Given the description of an element on the screen output the (x, y) to click on. 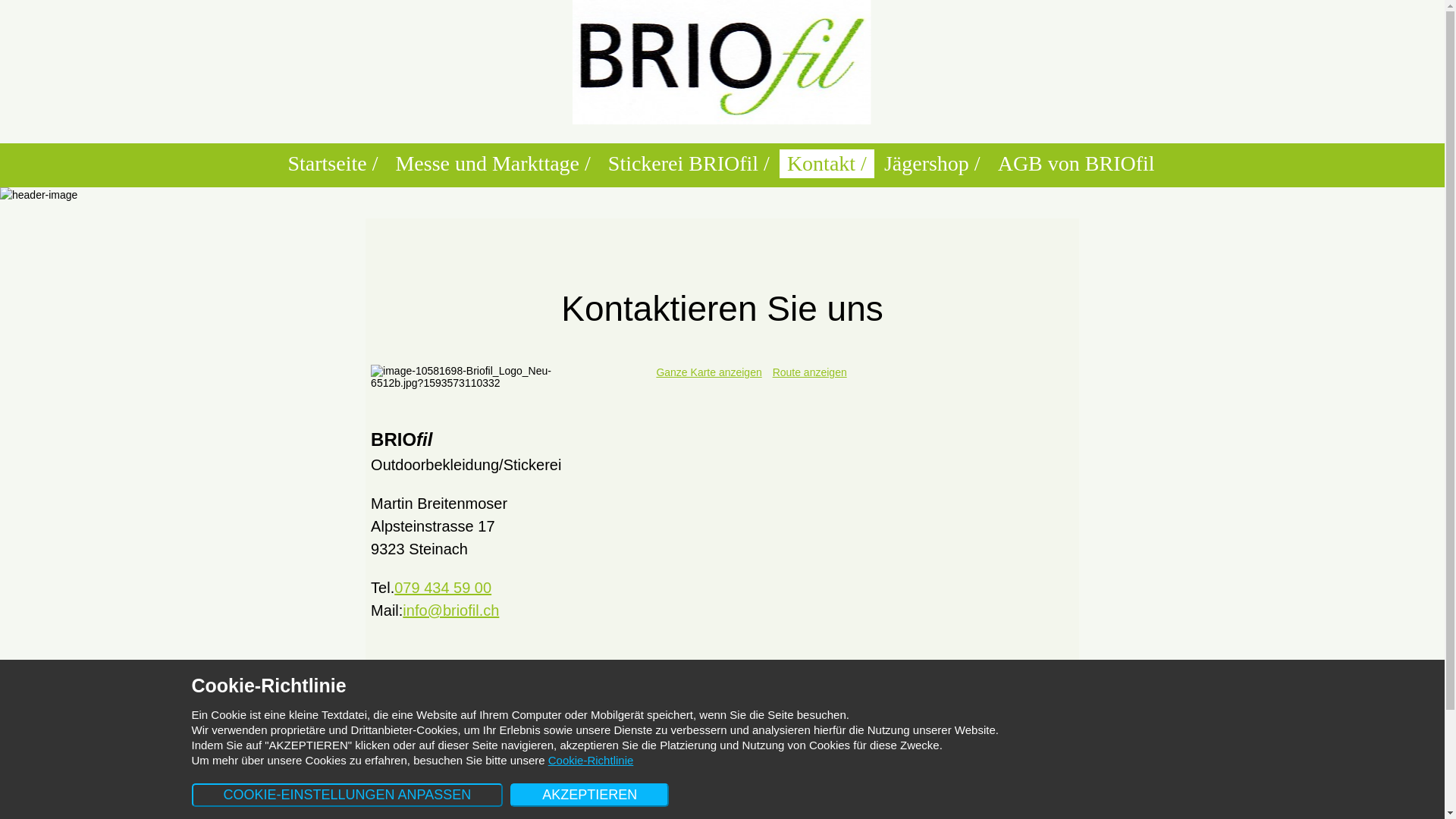
AKZEPTIEREN Element type: text (589, 794)
Cookie-Richtlinie Element type: text (590, 759)
COOKIE-EINSTELLUNGEN ANPASSEN Element type: text (346, 794)
079 434 59 00 Element type: text (442, 587)
AGB von BRIOfil Element type: text (1076, 163)
Ganze Karte anzeigen Element type: text (708, 372)
Startseite / Element type: text (332, 163)
info@briofil.ch Element type: text (450, 610)
Route anzeigen Element type: text (809, 372)
Kontakt / Element type: text (826, 163)
Messe und Markttage / Element type: text (492, 163)
Stickerei BRIOfil / Element type: text (688, 163)
